Given the description of an element on the screen output the (x, y) to click on. 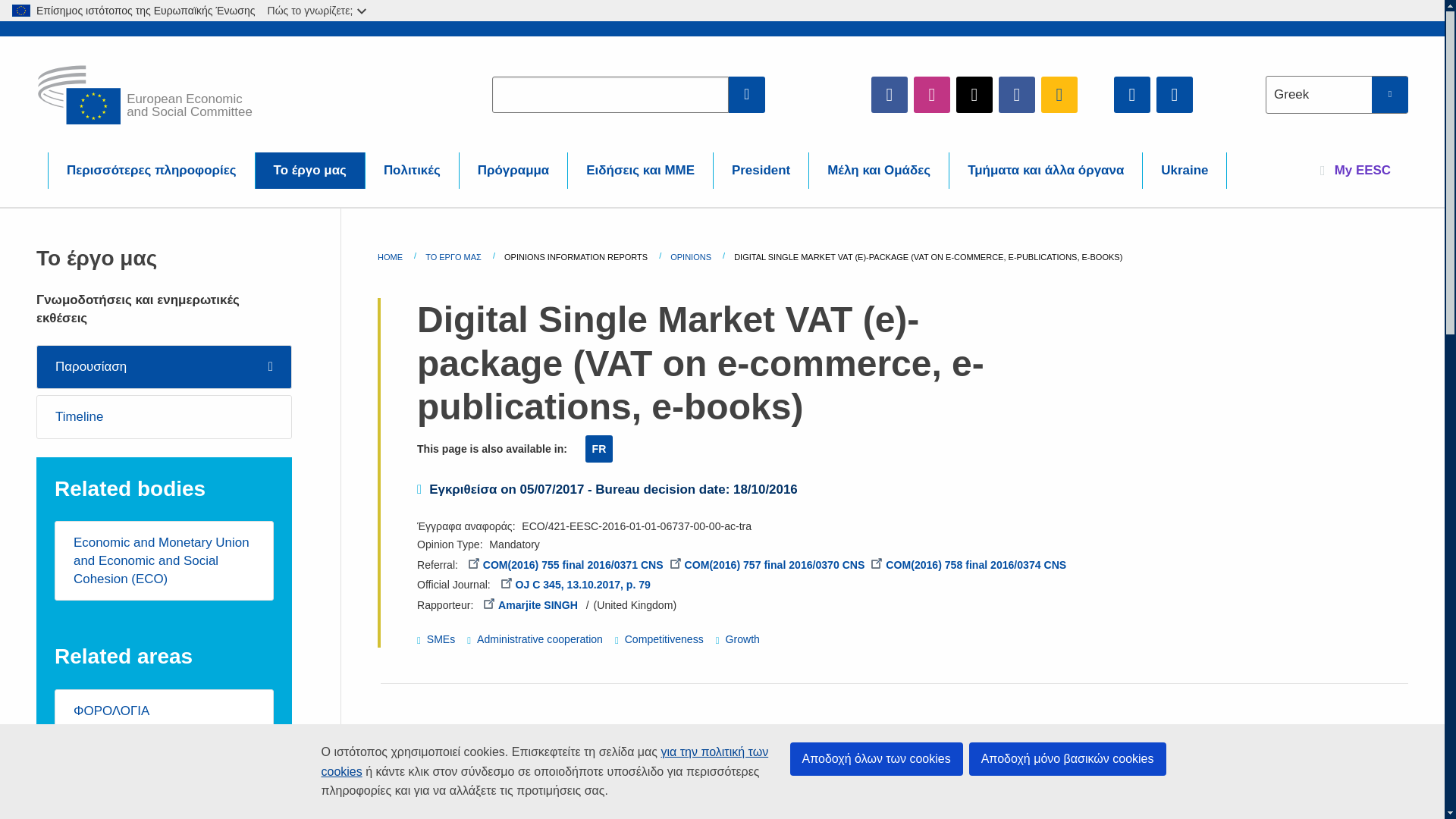
My EESC (1355, 170)
Search EESC Website (747, 94)
